Given the description of an element on the screen output the (x, y) to click on. 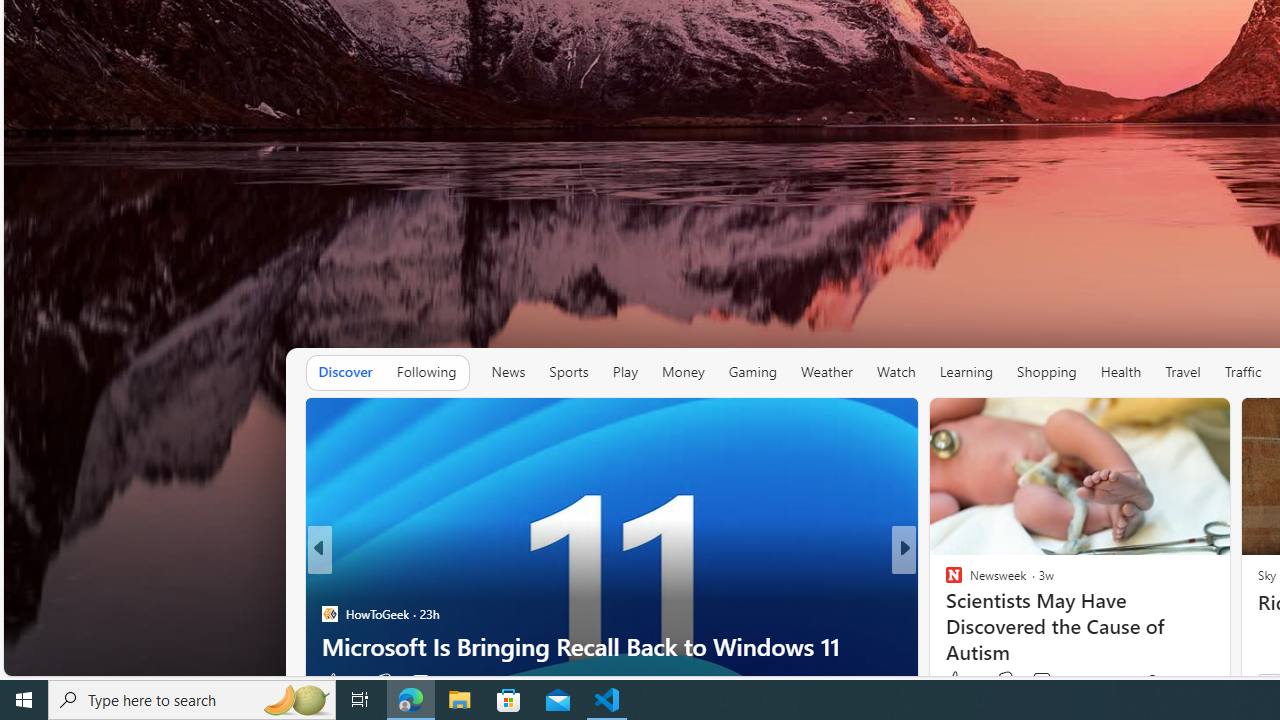
View comments 4 Comment (1036, 681)
